Given the description of an element on the screen output the (x, y) to click on. 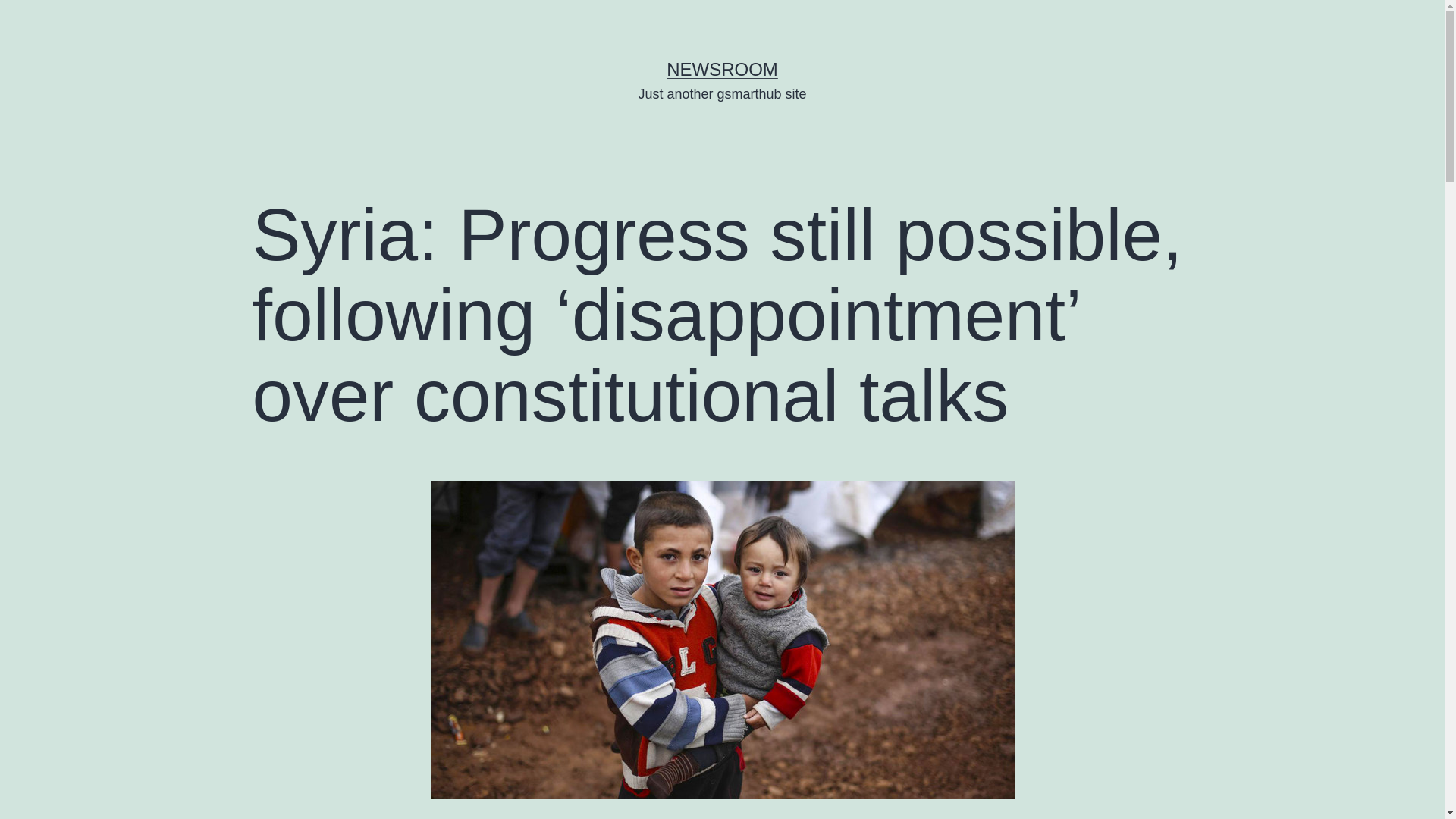
NEWSROOM (721, 68)
